Given the description of an element on the screen output the (x, y) to click on. 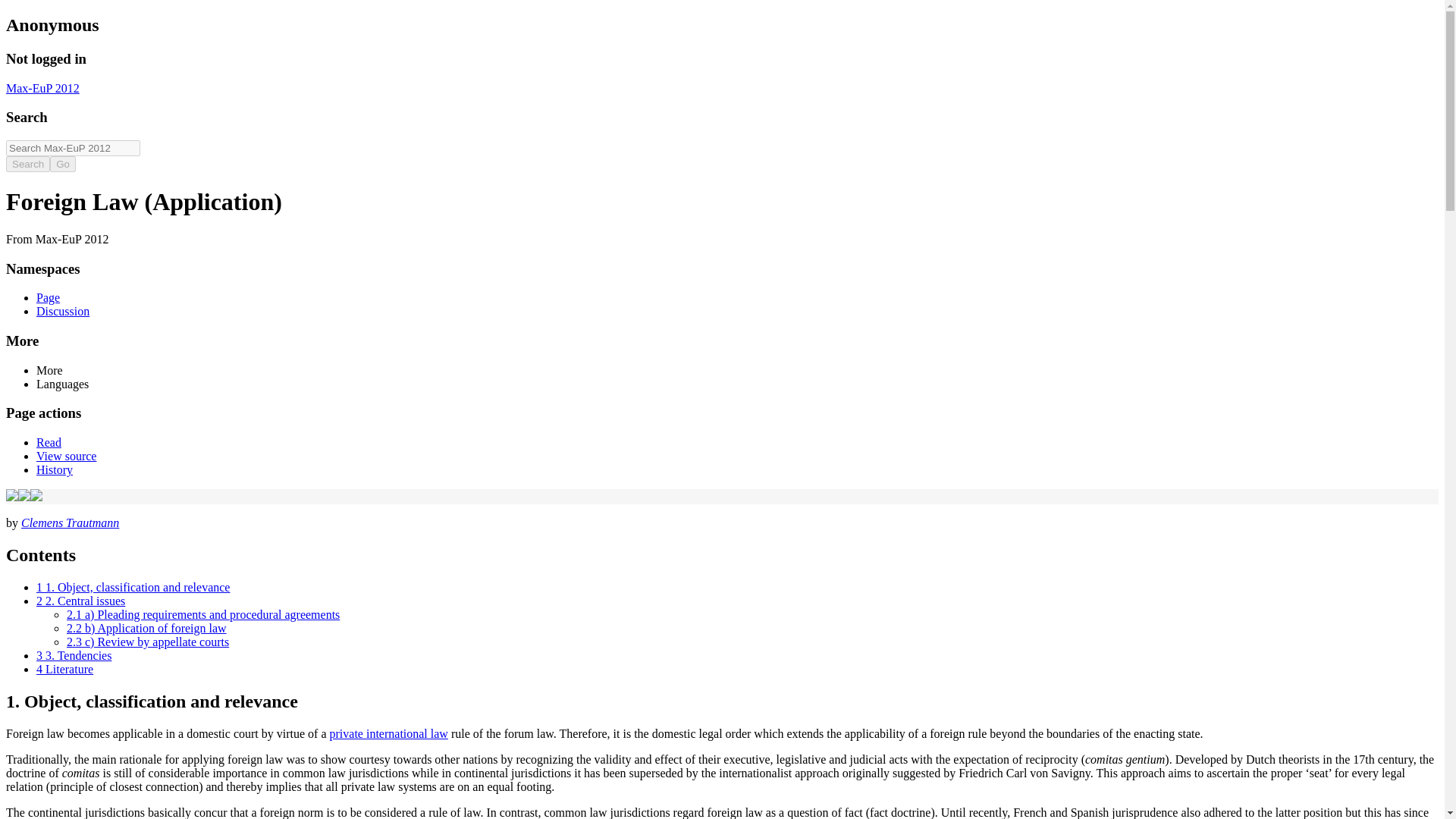
History (54, 469)
Go (62, 163)
Discussion (62, 310)
Search the pages for this text (27, 163)
Print (23, 496)
Go (62, 163)
2 2. Central issues (80, 600)
Clemens Trautmann (70, 522)
Links to this page (11, 496)
View source (66, 455)
